Given the description of an element on the screen output the (x, y) to click on. 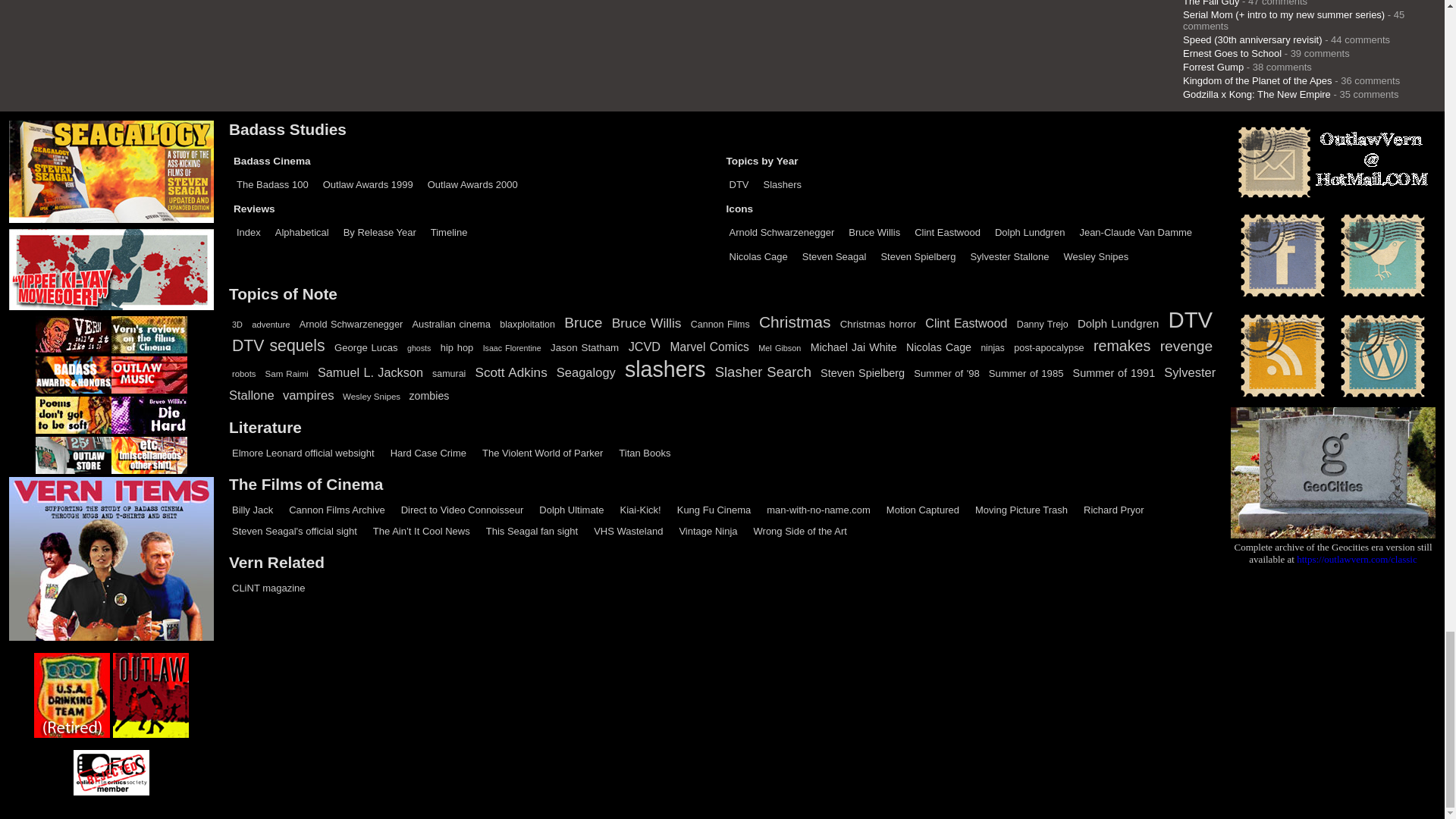
This guy is braver than me in his DTV viewing selections (461, 509)
I think you know who that is (302, 452)
